Given the description of an element on the screen output the (x, y) to click on. 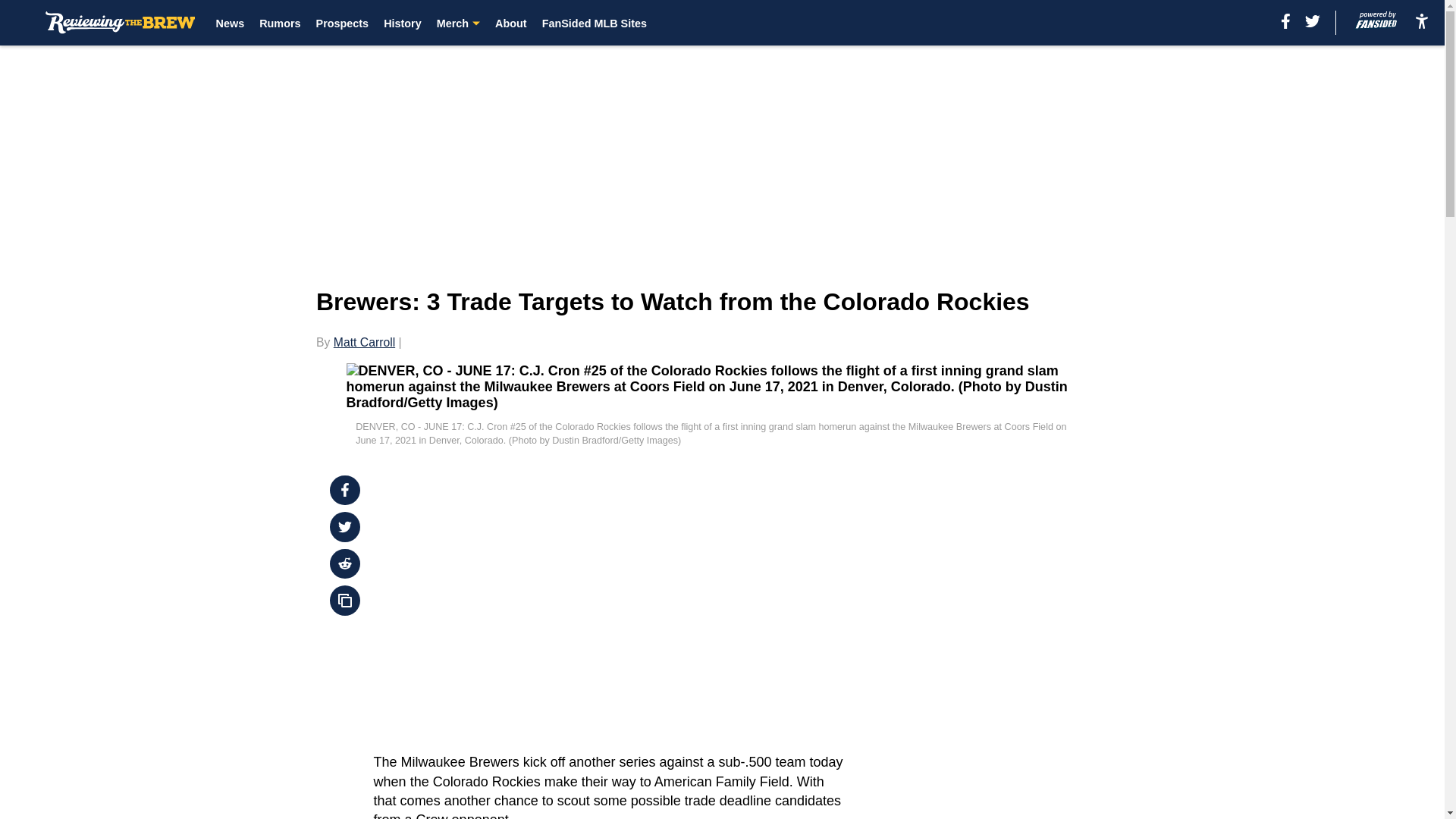
News (229, 23)
History (403, 23)
Prospects (342, 23)
FanSided MLB Sites (593, 23)
About (511, 23)
Matt Carroll (363, 341)
Rumors (279, 23)
